Given the description of an element on the screen output the (x, y) to click on. 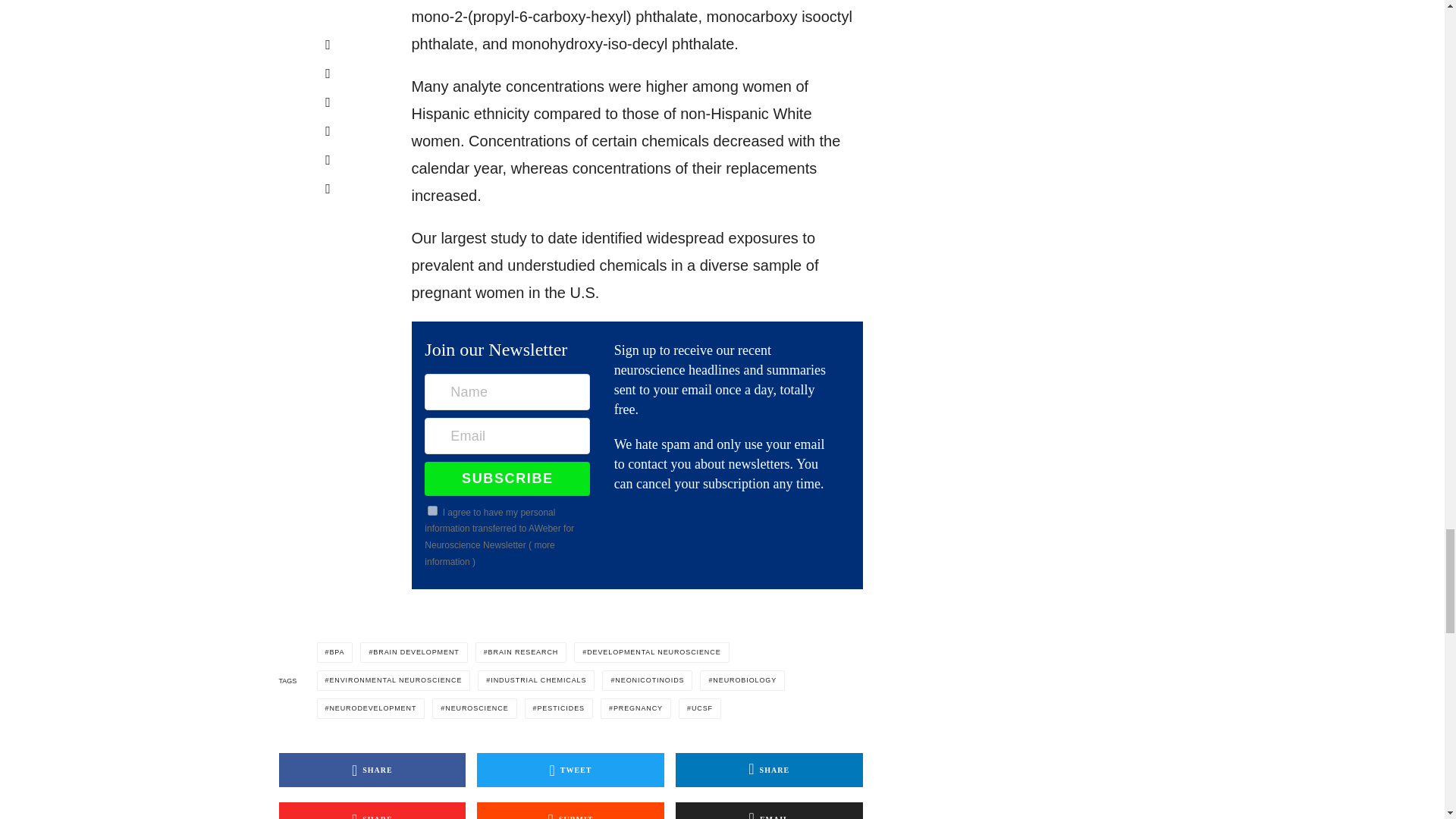
SUBMIT (570, 810)
BRAIN RESEARCH (521, 652)
SHARE (372, 810)
DEVELOPMENTAL NEUROSCIENCE (651, 652)
SHARE (769, 769)
TWEET (570, 769)
EMAIL (769, 810)
on (433, 510)
NEUROSCIENCE (474, 708)
SHARE (372, 769)
